Given the description of an element on the screen output the (x, y) to click on. 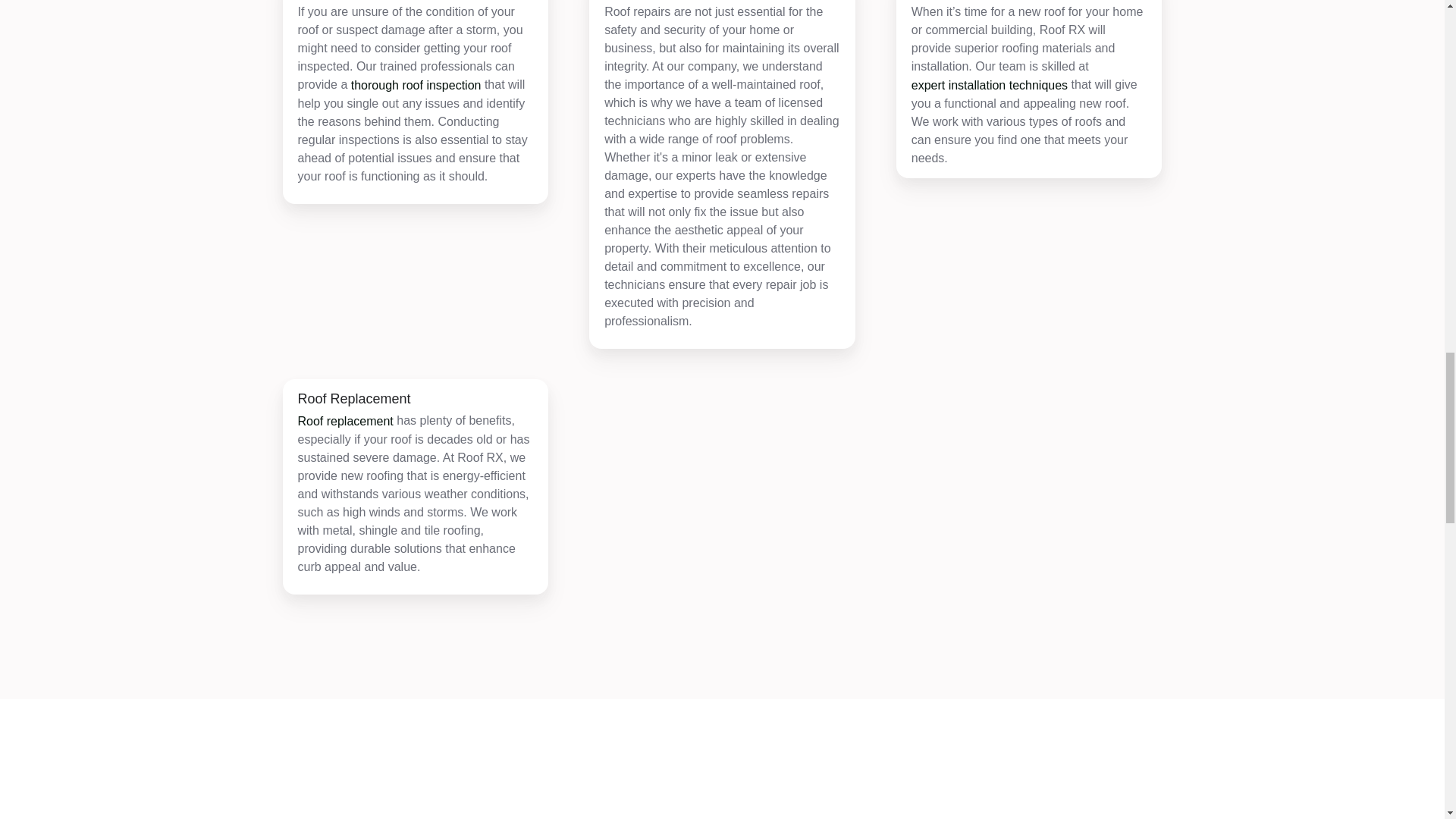
thorough roof inspection (415, 85)
expert installation techniques (989, 85)
Roof replacement (345, 421)
